Given the description of an element on the screen output the (x, y) to click on. 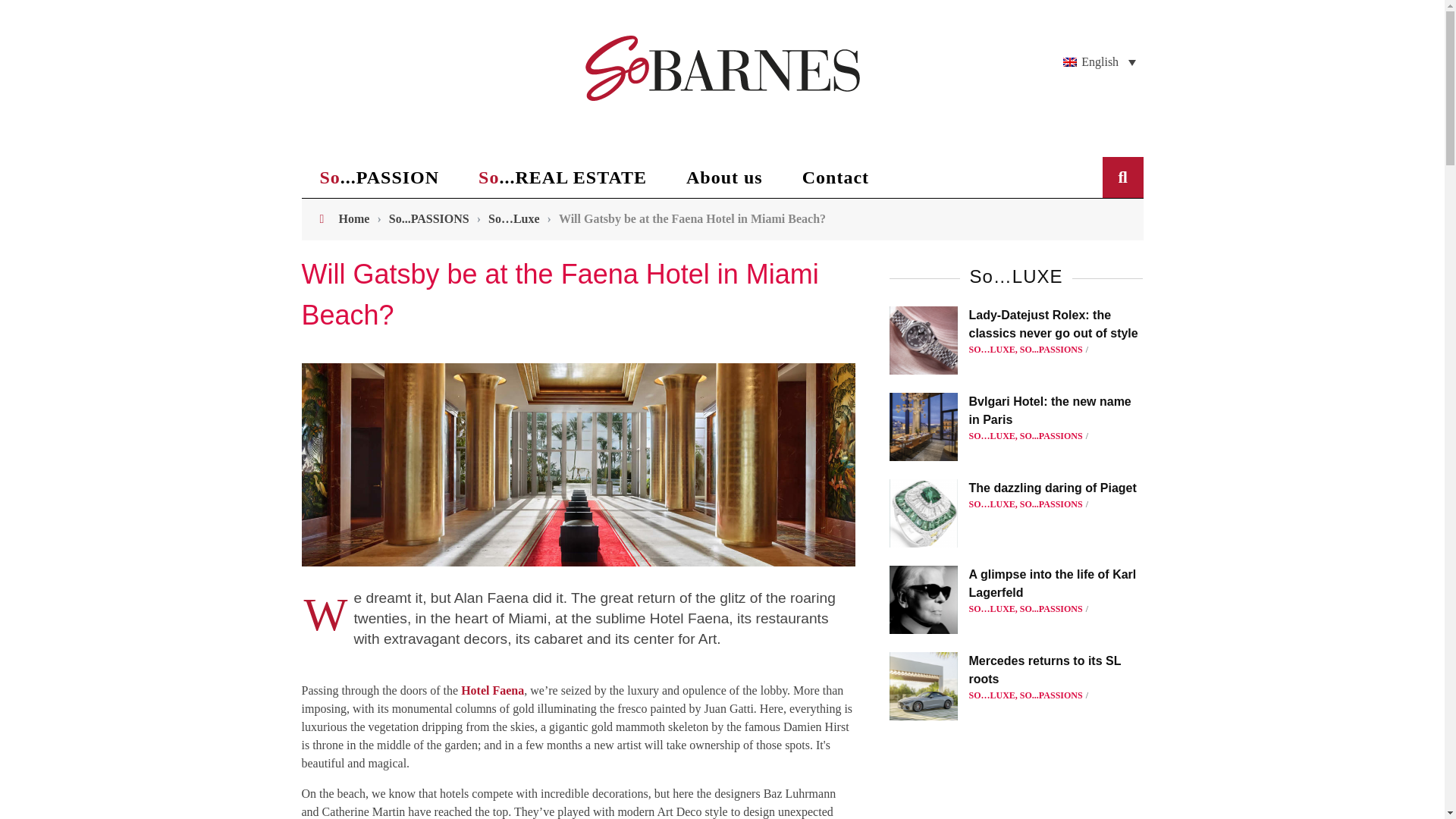
So...PASSIONS (428, 218)
About us (724, 177)
Contact (835, 177)
English (1098, 61)
Home (354, 218)
So...REAL ESTATE (562, 177)
So...PASSION (379, 177)
Hotel Faena (492, 689)
